Given the description of an element on the screen output the (x, y) to click on. 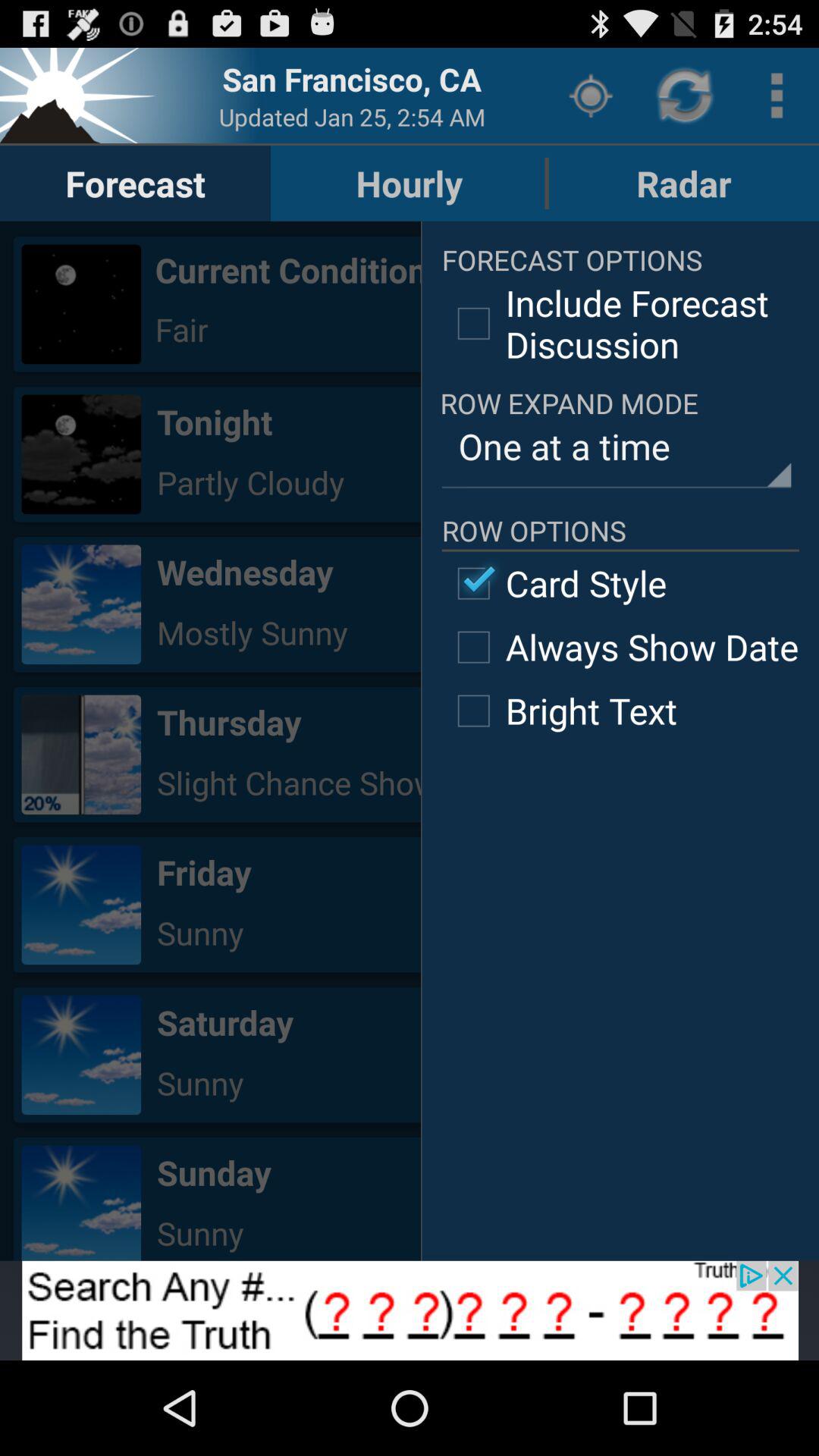
select the second image which is before tonight (81, 453)
